Given the description of an element on the screen output the (x, y) to click on. 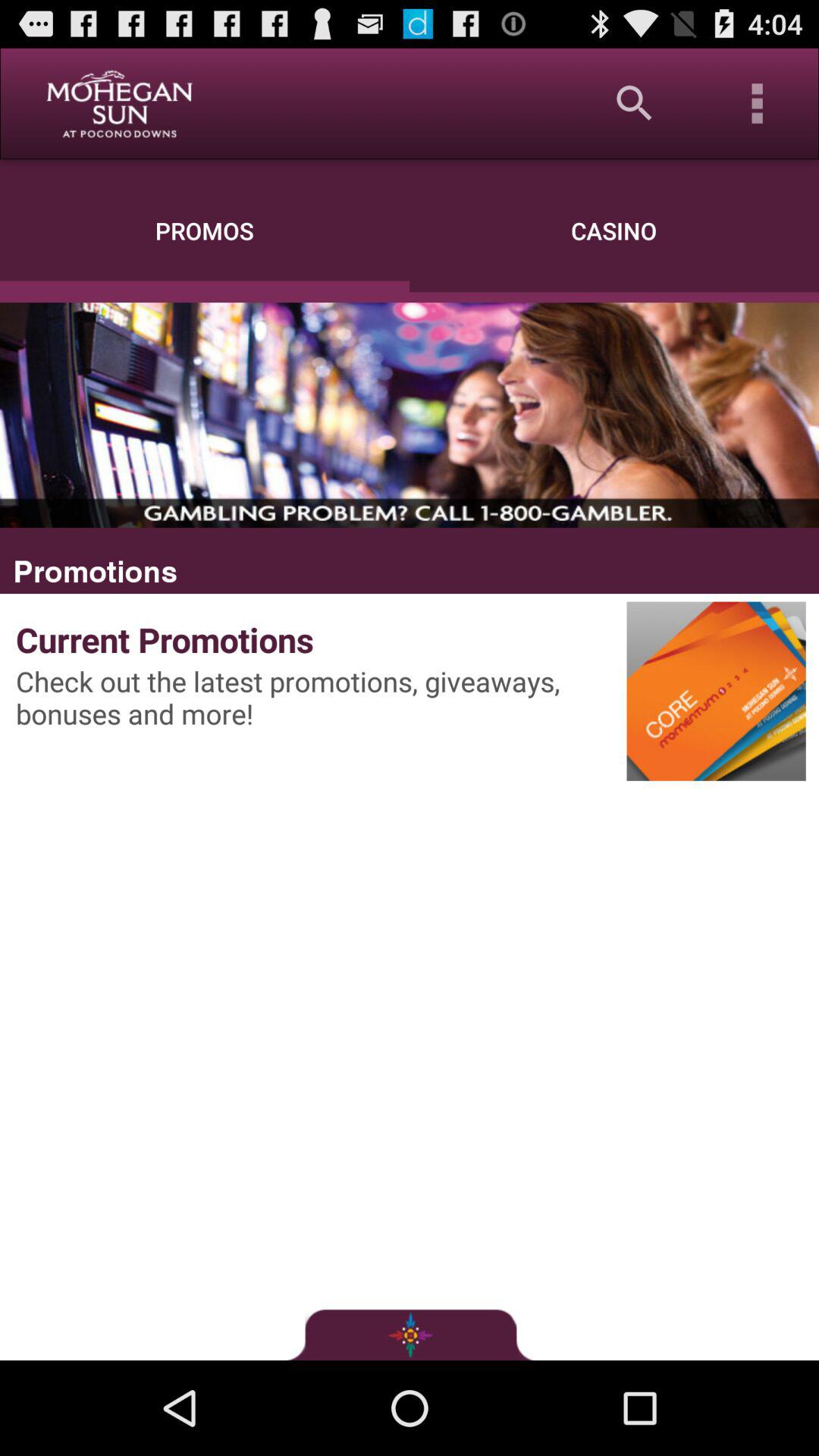
click item to the right of promos (634, 103)
